Given the description of an element on the screen output the (x, y) to click on. 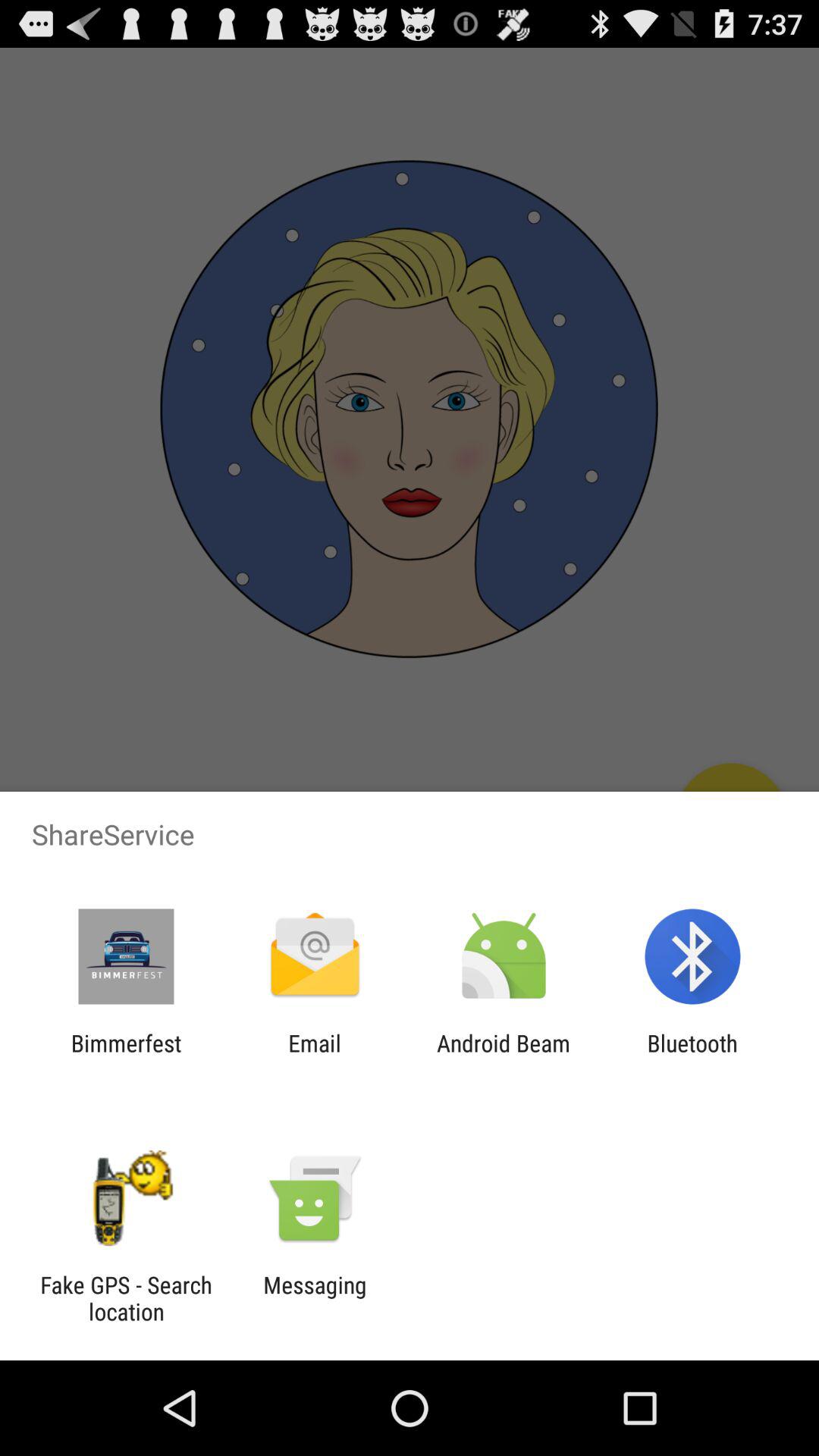
click item to the left of bluetooth icon (503, 1056)
